Given the description of an element on the screen output the (x, y) to click on. 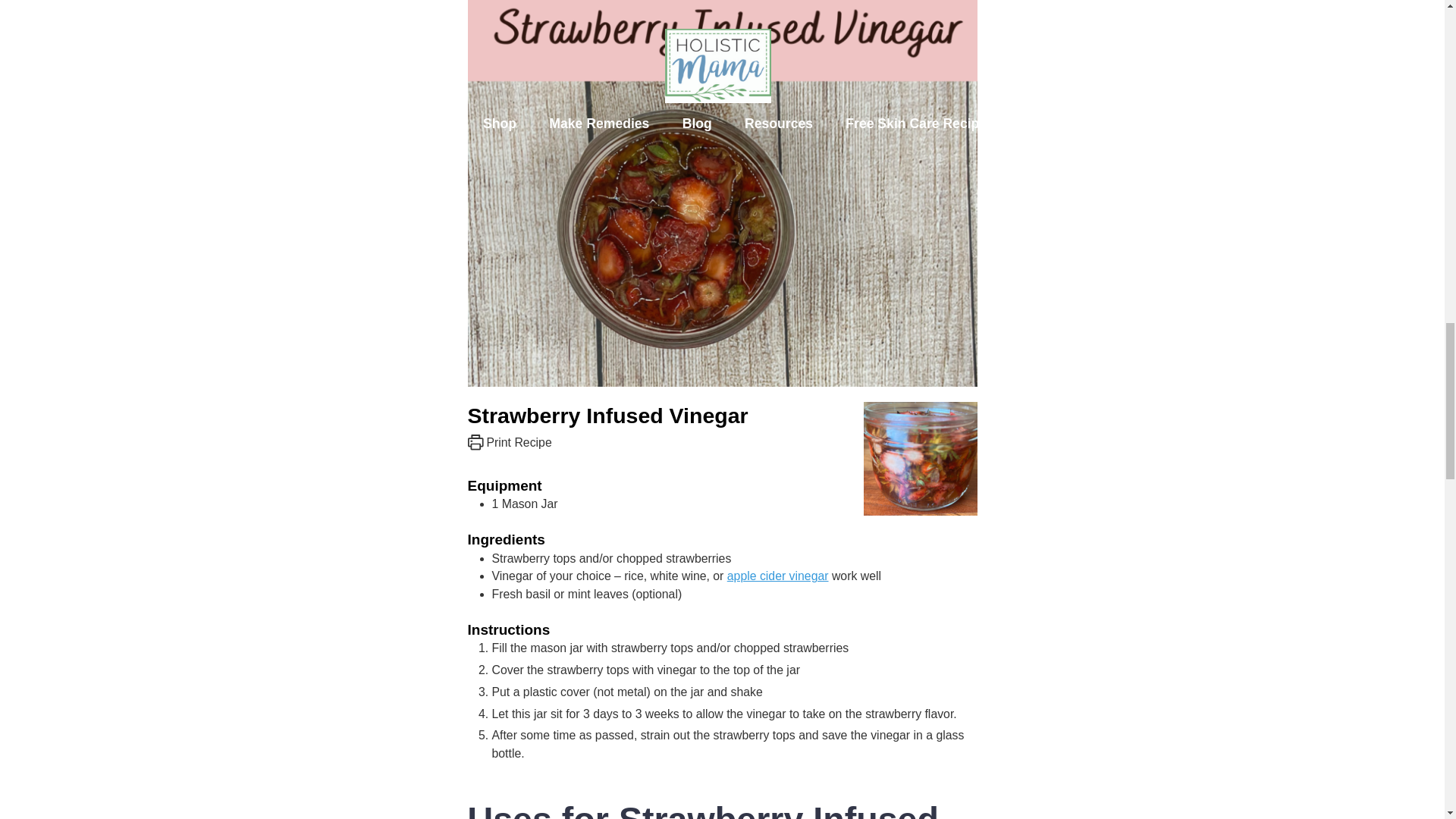
apple cider vinegar (777, 575)
Print Recipe (509, 441)
apple cider vinegar (777, 575)
